Given the description of an element on the screen output the (x, y) to click on. 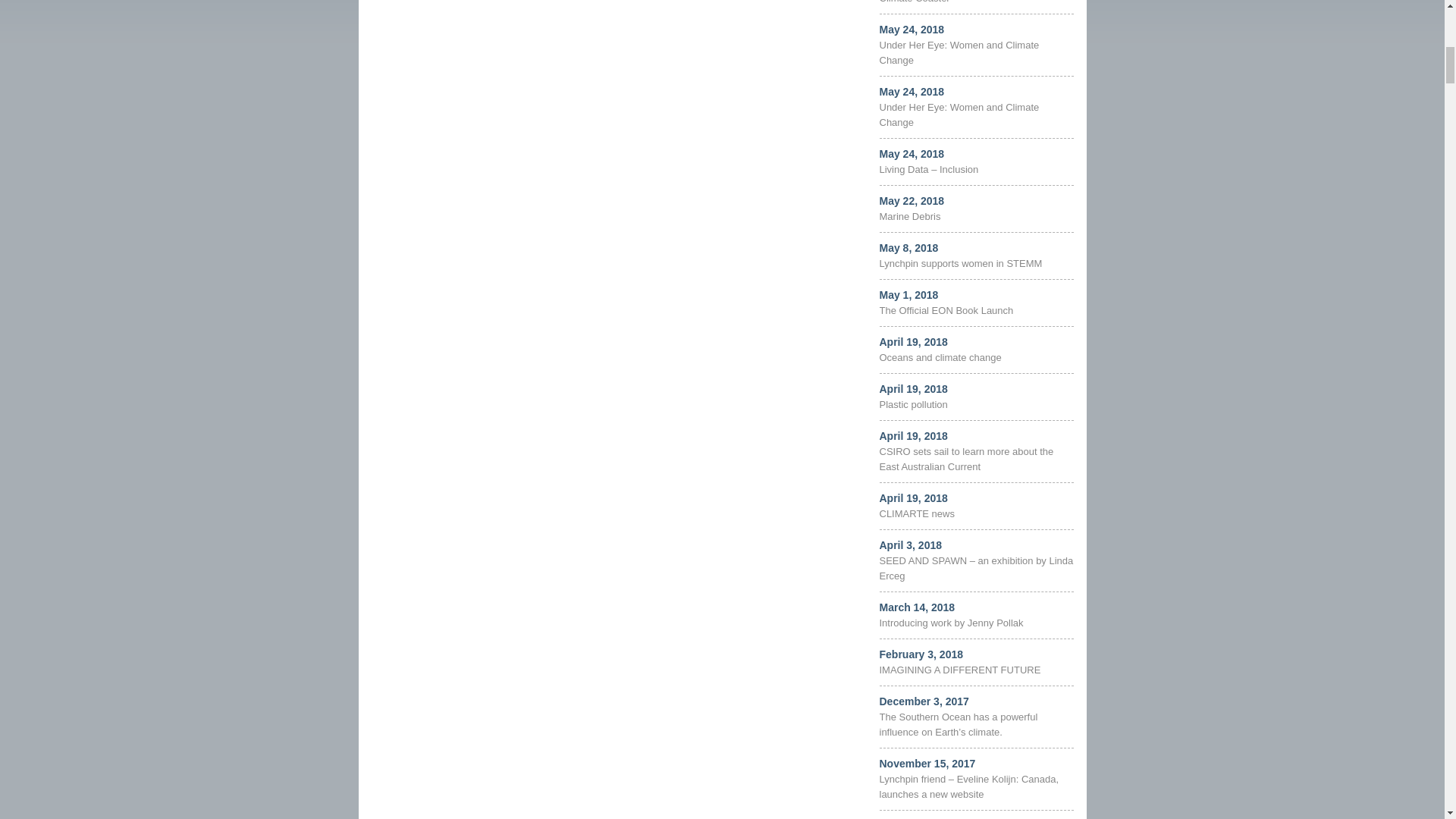
May 24, 2018 (911, 29)
